Given the description of an element on the screen output the (x, y) to click on. 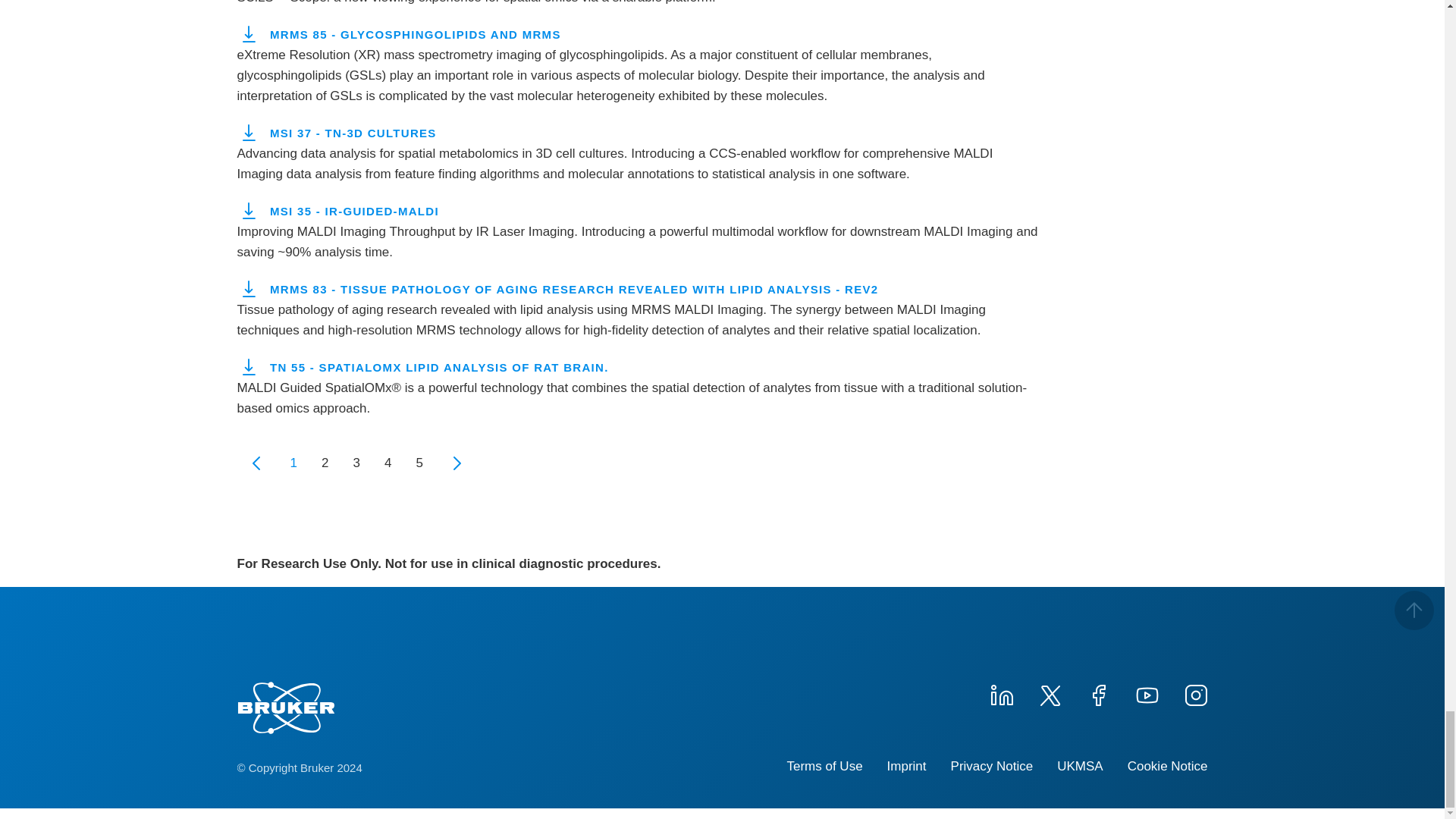
youtube (1146, 693)
facebook (1097, 693)
linkedin (1000, 693)
instagram (1194, 693)
twitter (1048, 693)
